Given the description of an element on the screen output the (x, y) to click on. 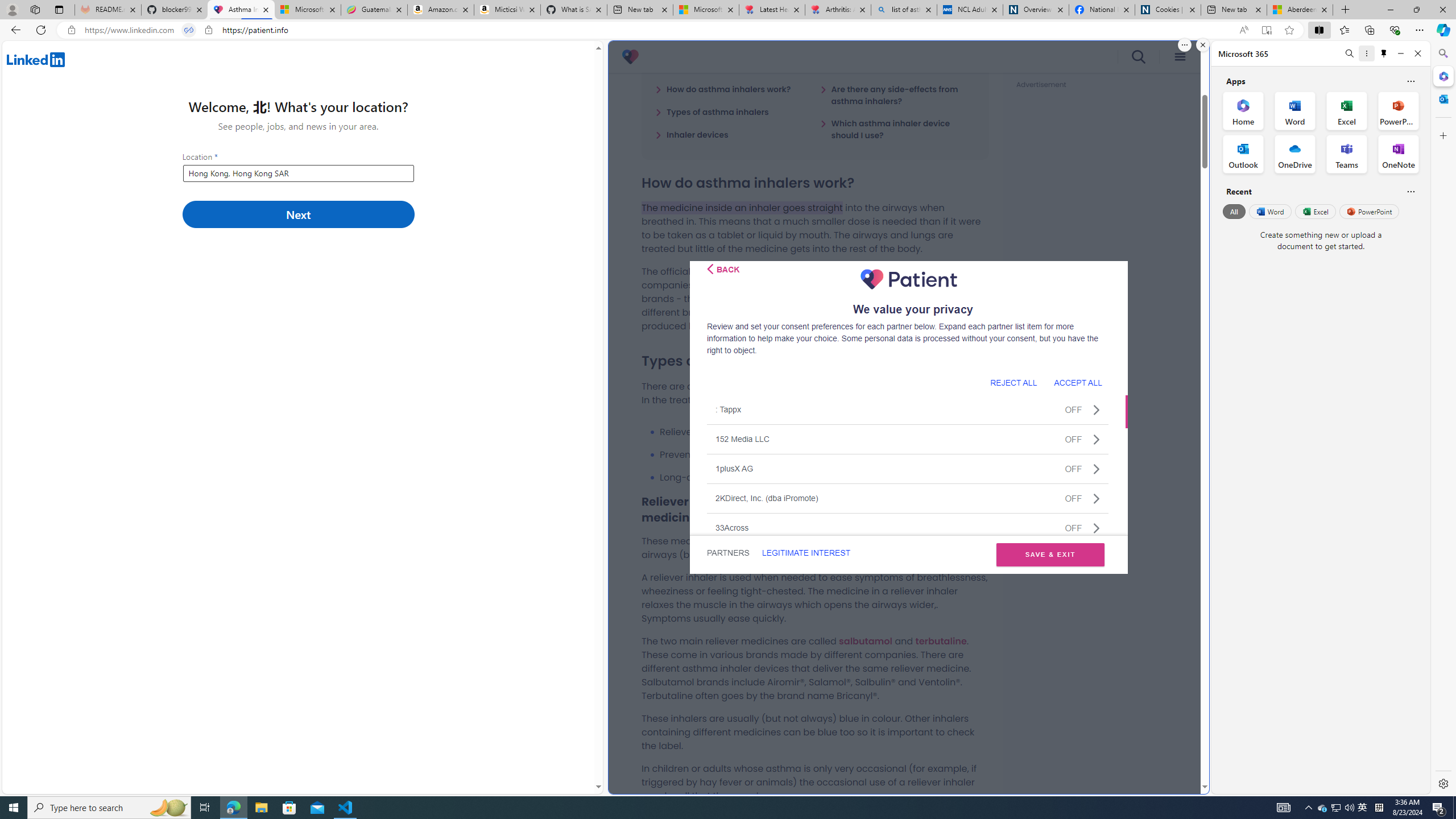
list of asthma inhalers uk - Search (904, 9)
Enter Immersive Reader (F9) (1266, 29)
Teams Office App (1346, 154)
33AcrossOFF (907, 527)
search (1138, 56)
Relievers (short-acting bronchodilators). (823, 431)
More options. (1183, 45)
PowerPoint Office App (1398, 110)
OneDrive Office App (1295, 154)
